Given the description of an element on the screen output the (x, y) to click on. 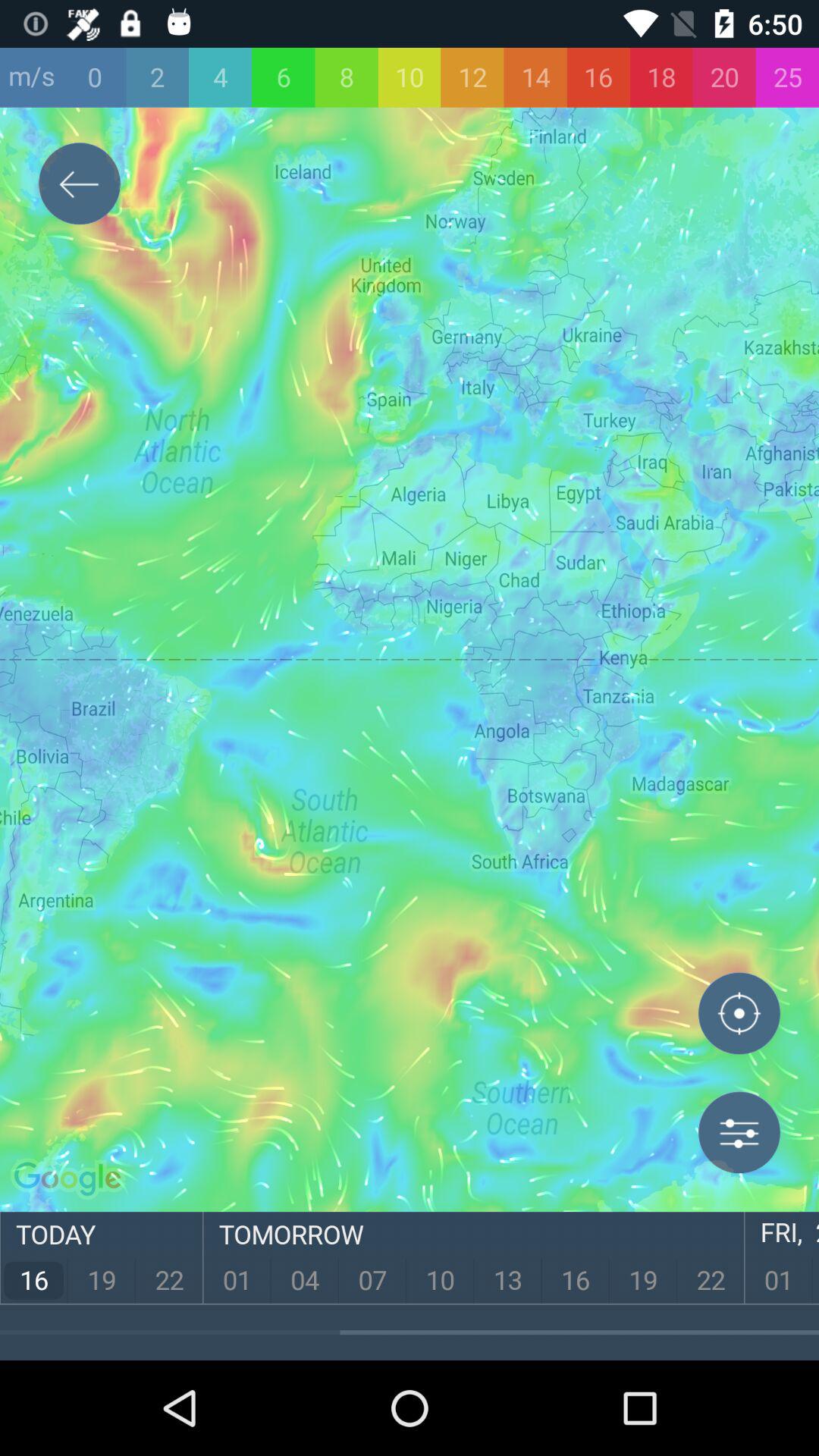
exit button (79, 186)
